Given the description of an element on the screen output the (x, y) to click on. 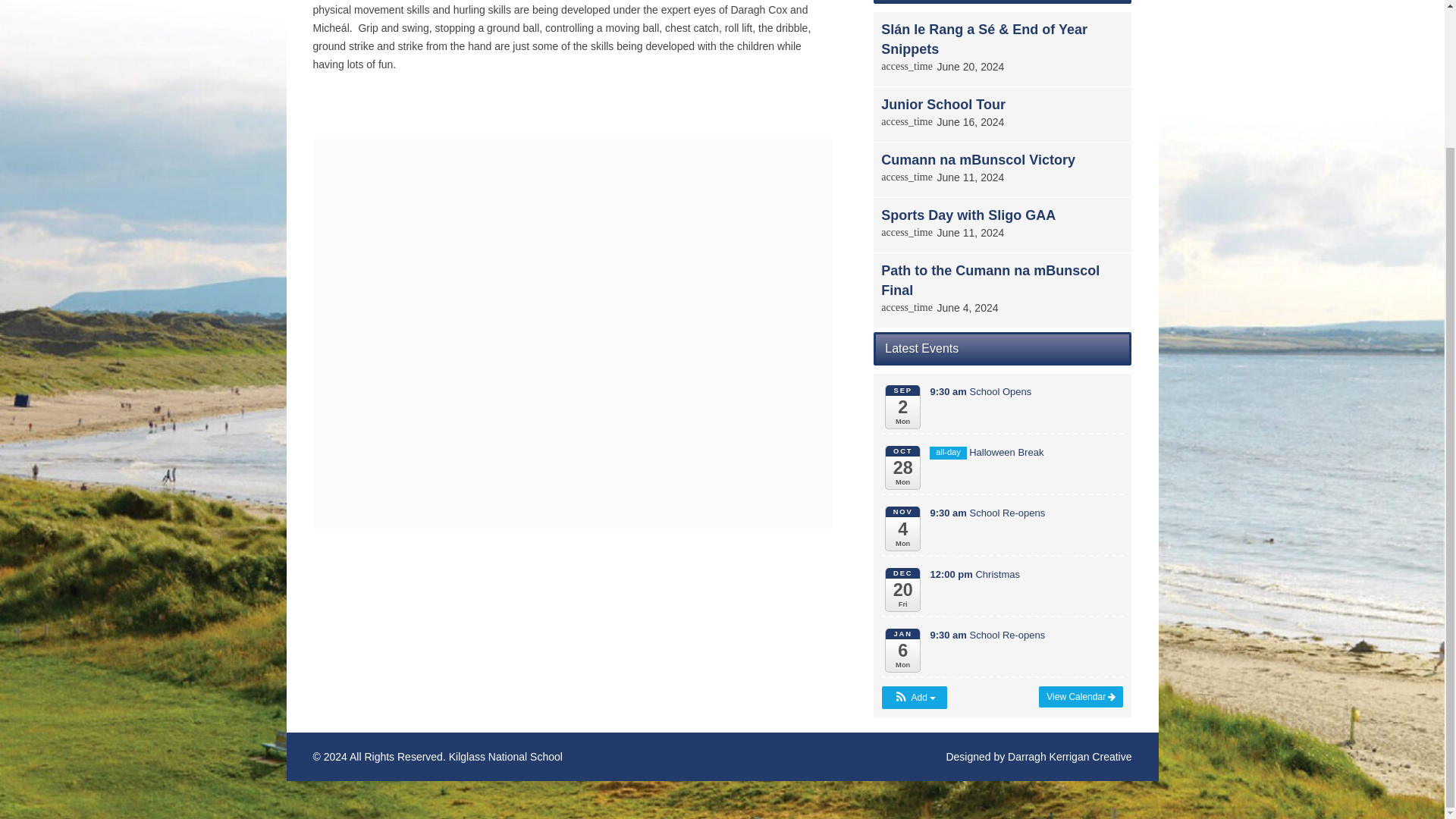
Sports Day with Sligo GAA (967, 215)
Junior School Tour (943, 104)
Latest School News (1002, 2)
Latest Events (1002, 348)
Cumann na mBunscol Victory (977, 159)
Path to the Cumann na mBunscol Final (989, 280)
Darragh Kerrigan Creative (1069, 756)
